Given the description of an element on the screen output the (x, y) to click on. 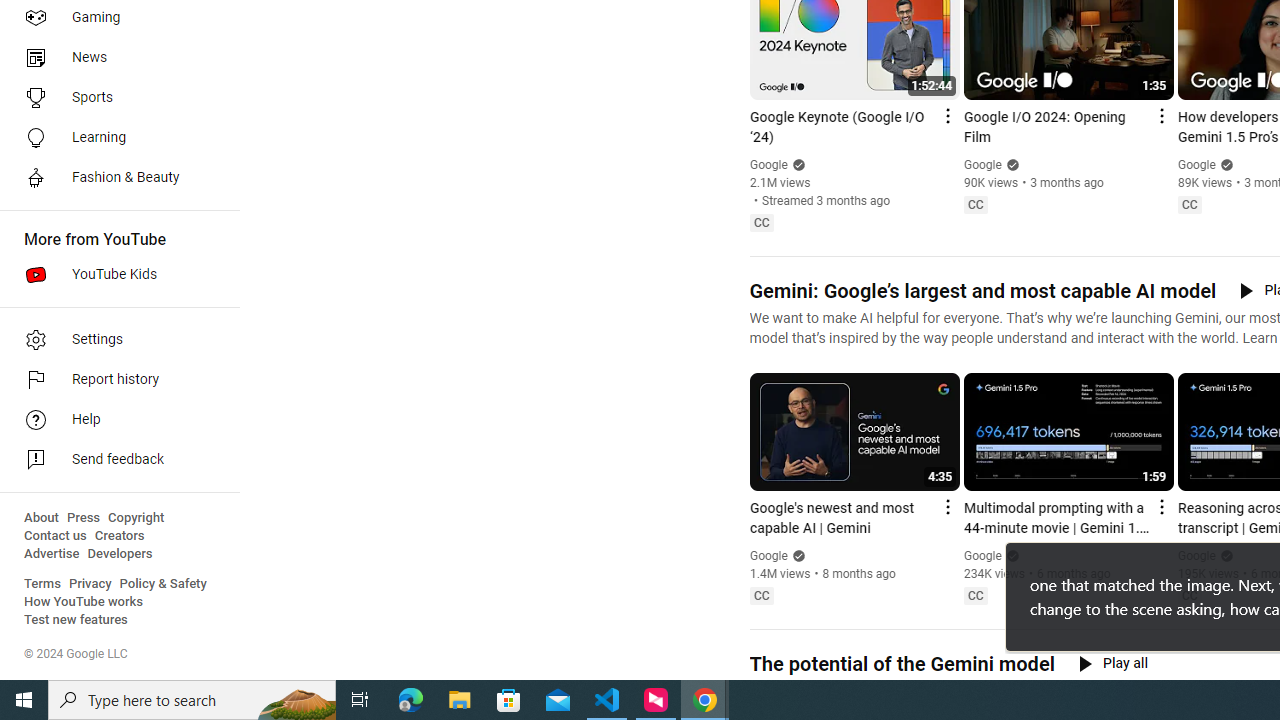
About (41, 518)
Advertise (51, 554)
Report history (113, 380)
The potential of the Gemini model (901, 664)
Play all (1113, 663)
Developers (120, 554)
Verified (1223, 555)
Help (113, 419)
Test new features (76, 620)
Action menu (1160, 506)
How YouTube works (83, 602)
Settings (113, 339)
Terms (42, 584)
